Given the description of an element on the screen output the (x, y) to click on. 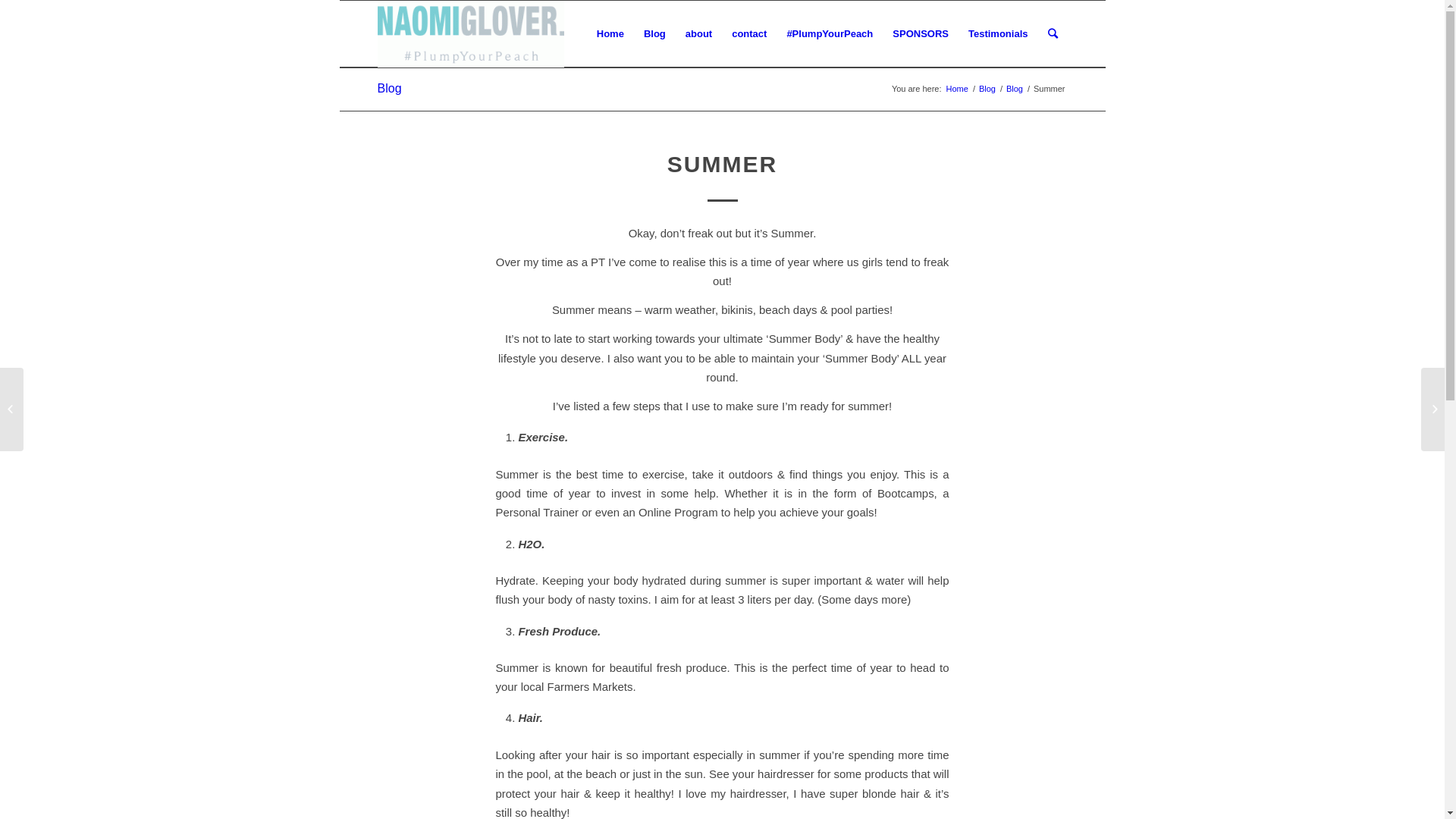
Testimonials Element type: text (998, 33)
Blog Element type: text (986, 88)
about Element type: text (698, 33)
Blog Element type: text (1014, 88)
Home Element type: text (957, 88)
Blog Element type: text (654, 33)
Blog Element type: text (389, 87)
SPONSORS Element type: text (920, 33)
#PlumpYourPeach Element type: text (829, 33)
Home Element type: text (609, 33)
SUMMER Element type: text (722, 163)
contact Element type: text (748, 33)
